Given the description of an element on the screen output the (x, y) to click on. 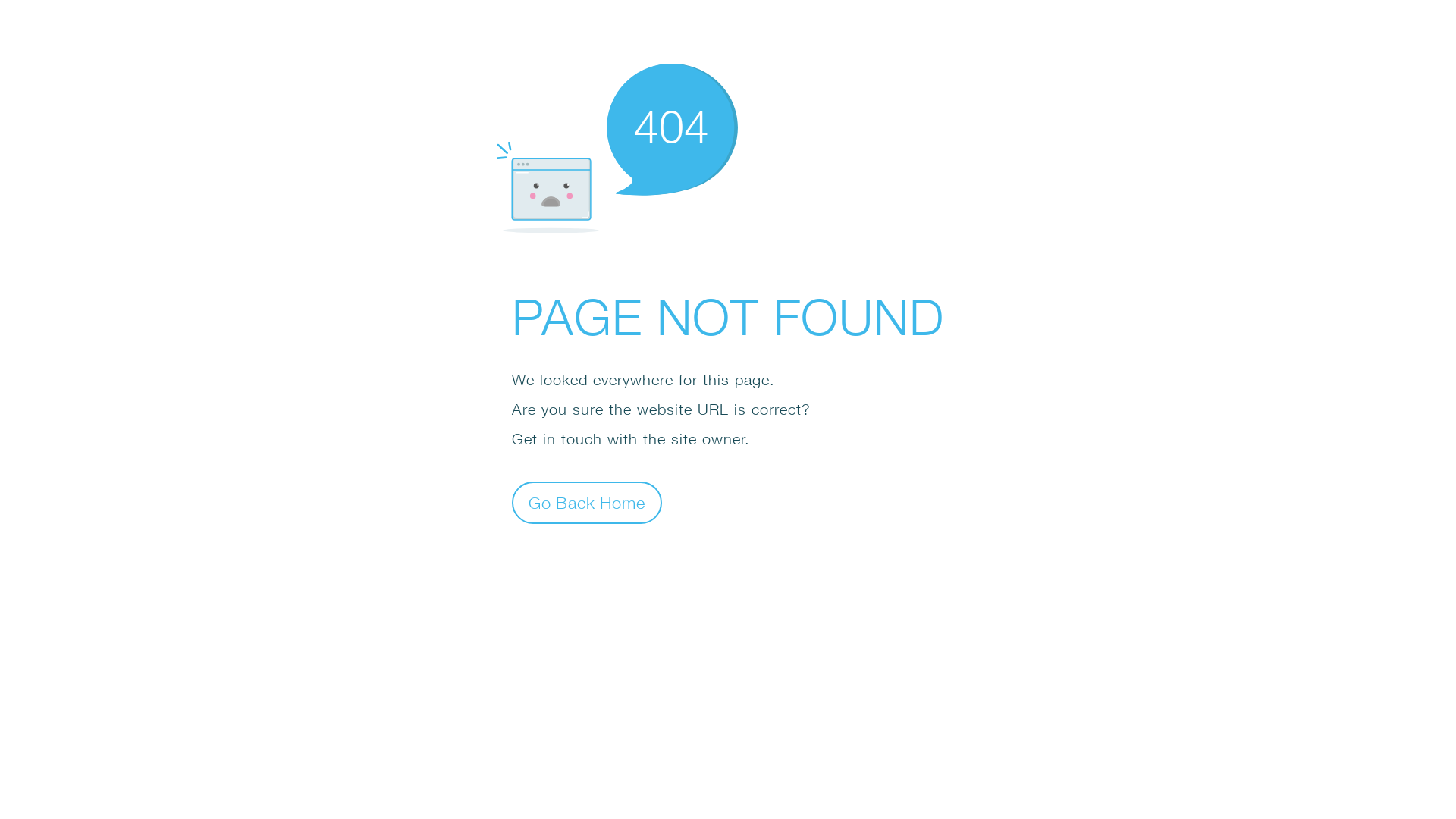
Go Back Home Element type: text (586, 502)
